Given the description of an element on the screen output the (x, y) to click on. 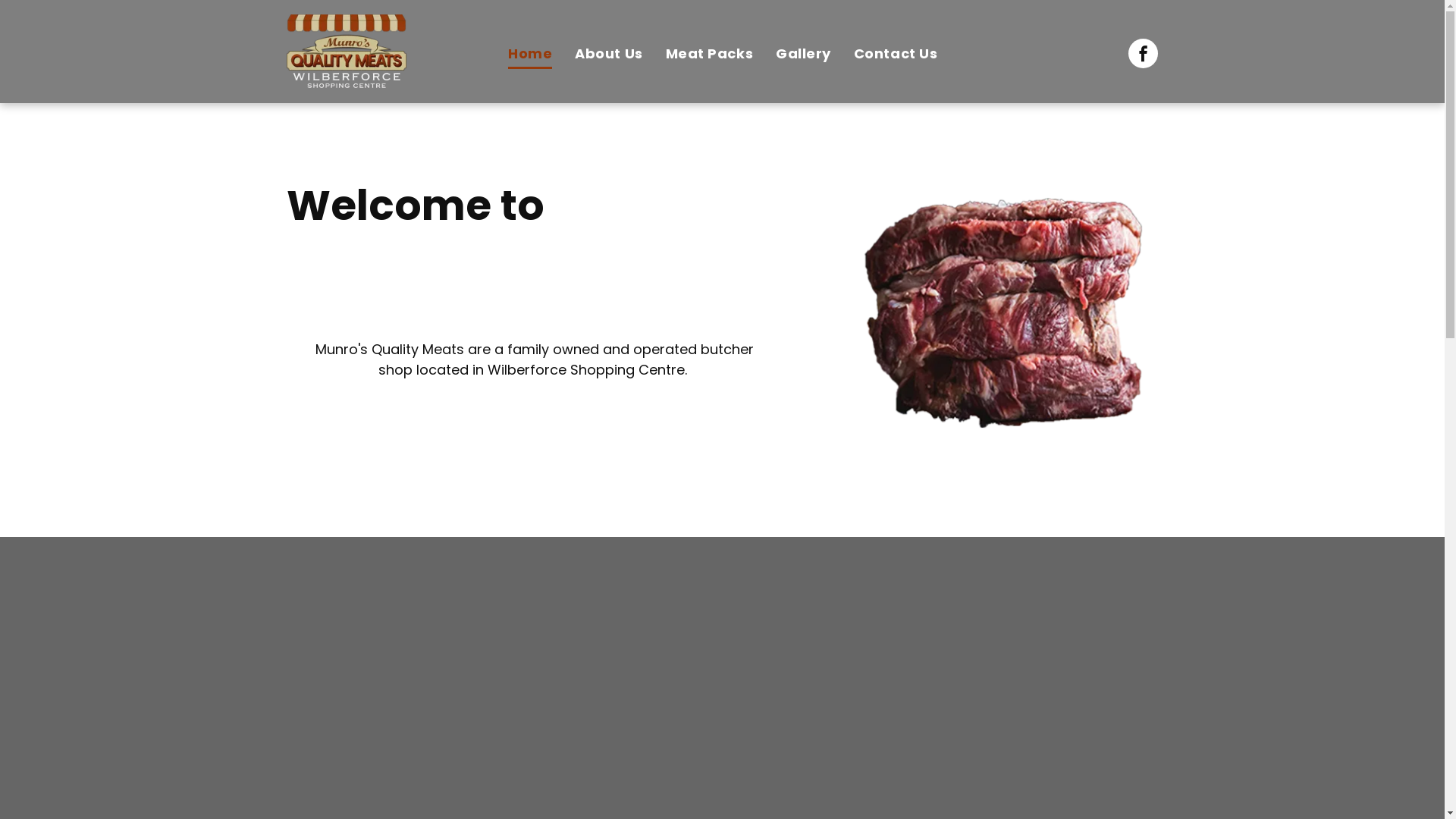
Read More Element type: text (533, 430)
Contact Us Element type: text (895, 54)
About Us Element type: text (608, 54)
Home Element type: text (529, 54)
Meat Packs Element type: text (709, 54)
Gallery Element type: text (803, 54)
Premium Quality Meats Element type: hover (1002, 311)
